Given the description of an element on the screen output the (x, y) to click on. 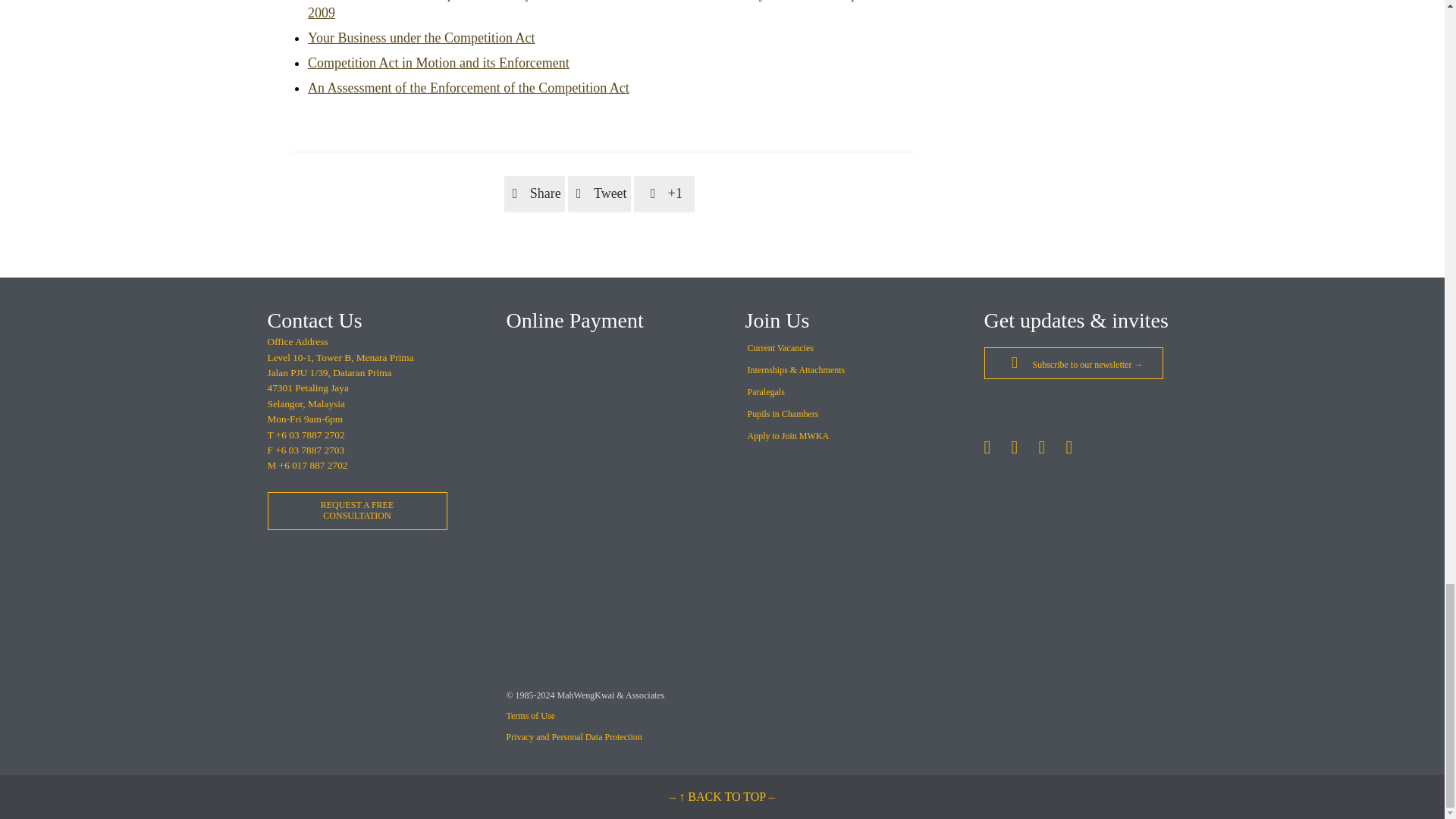
Share on Facebook (533, 194)
Share on Twitter (598, 194)
Share on Google Plus (663, 194)
